Given the description of an element on the screen output the (x, y) to click on. 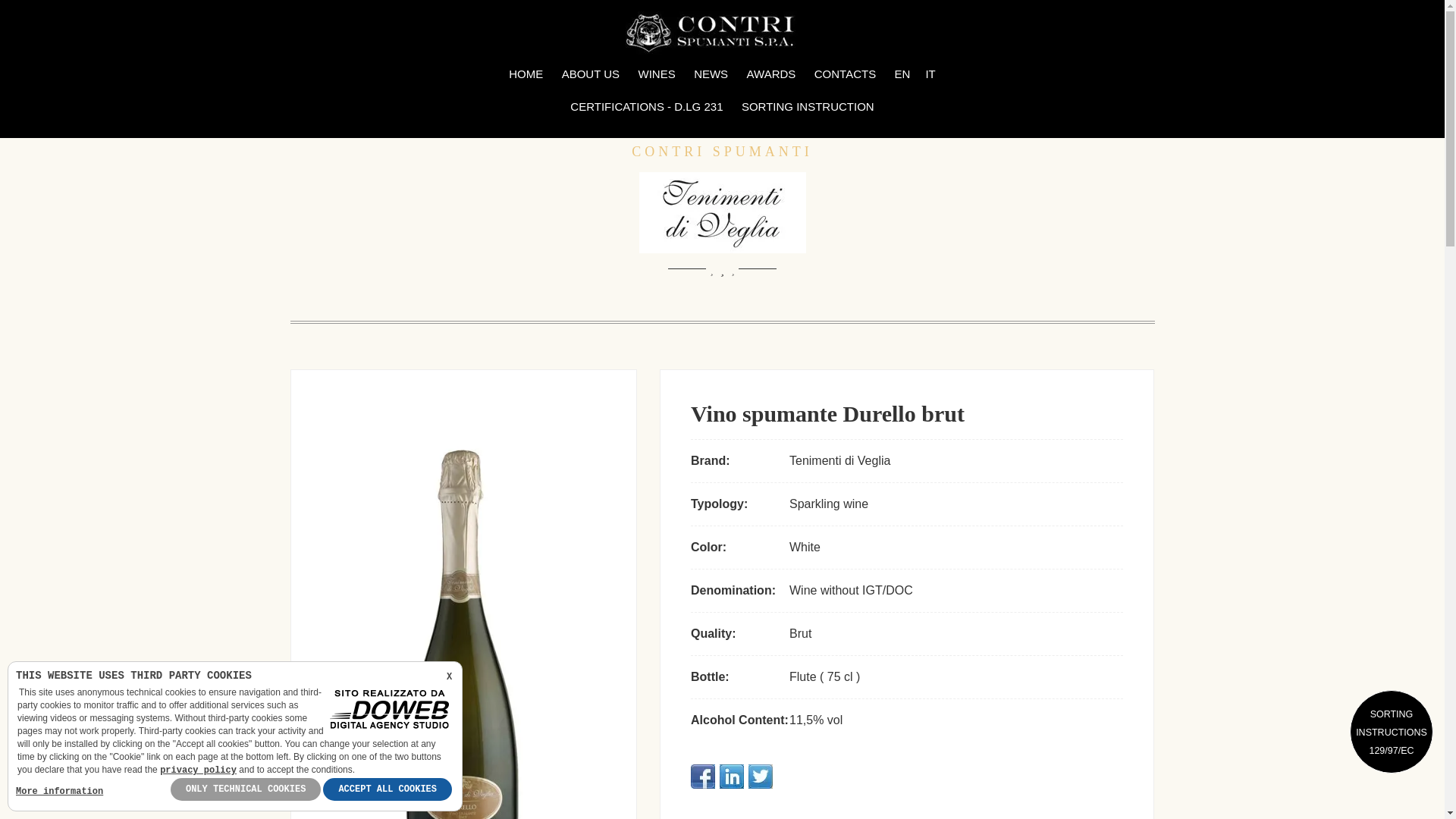
HOME (525, 74)
CERTIFICATIONS - D.LG 231 (646, 106)
home (722, 31)
Contacts (844, 74)
CONTACTS (844, 74)
Certifications - D.LG 231 (646, 106)
About us (590, 74)
ABOUT US (590, 74)
Wines (656, 74)
AWARDS (771, 74)
NEWS (710, 74)
EN (902, 74)
EN (902, 74)
News (710, 74)
home (525, 74)
